Given the description of an element on the screen output the (x, y) to click on. 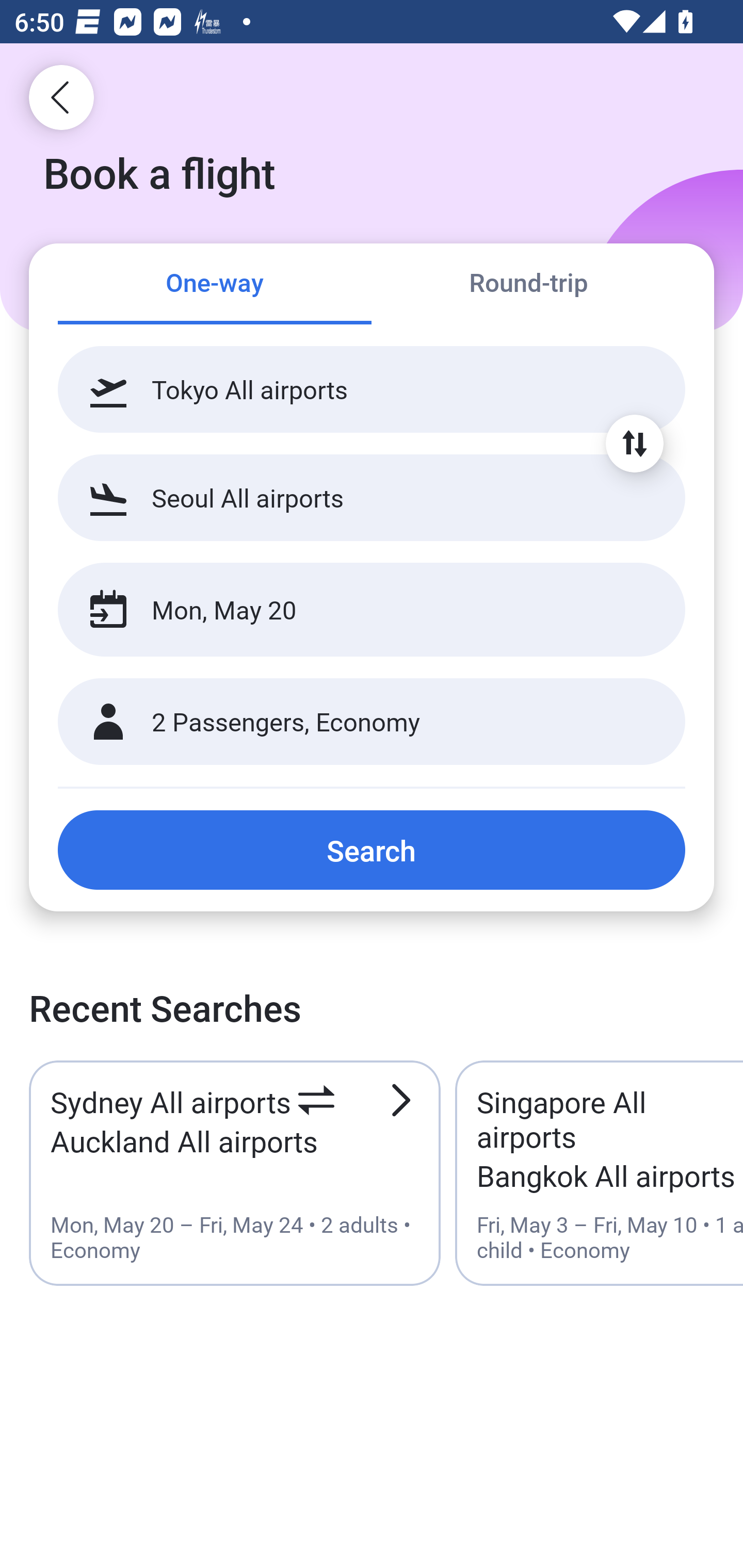
Round-trip (528, 284)
Tokyo All airports (371, 389)
Seoul All airports (371, 497)
Mon, May 20 (349, 609)
2 Passengers, Economy (371, 721)
Search (371, 849)
